Given the description of an element on the screen output the (x, y) to click on. 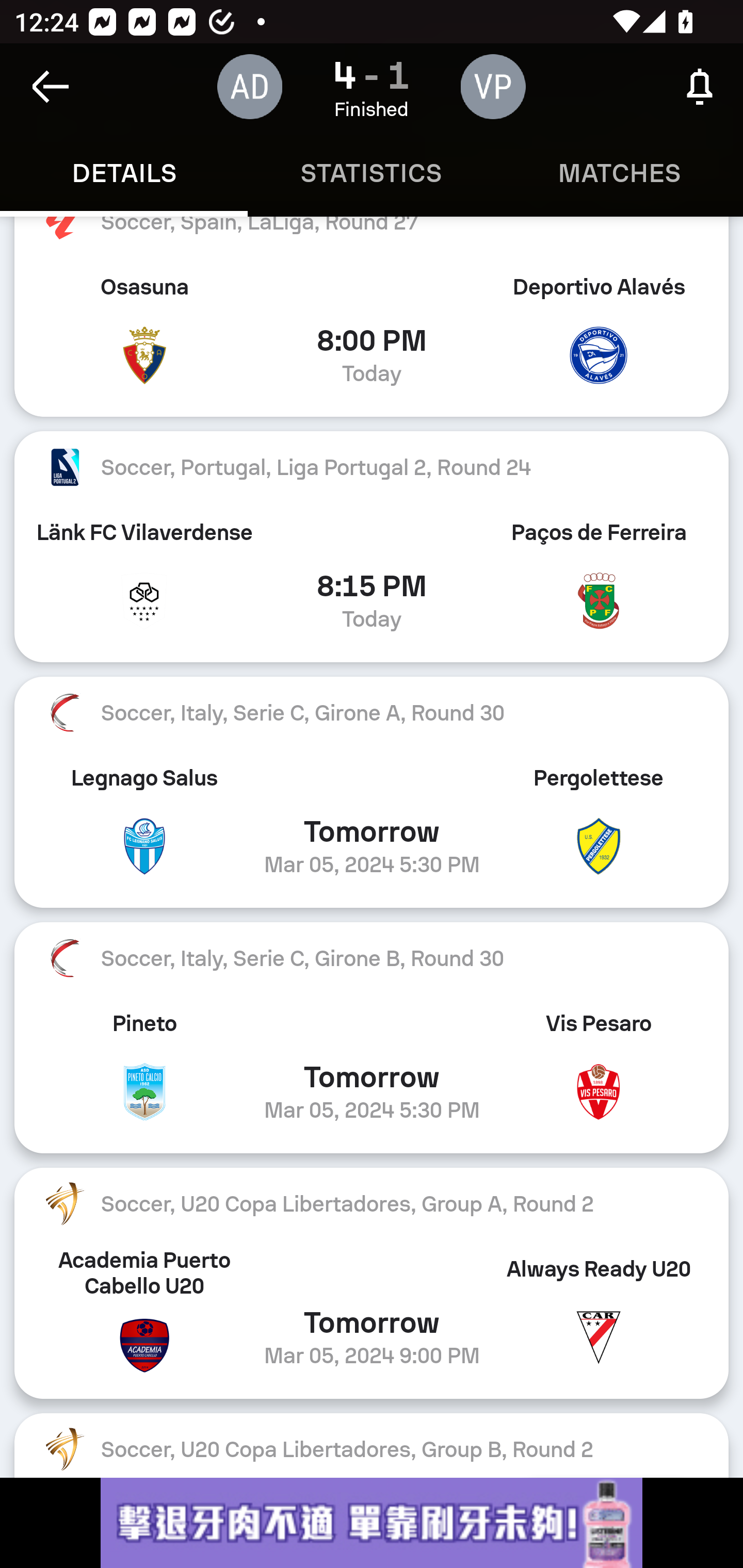
Navigate up (50, 86)
Statistics STATISTICS (371, 173)
Matches MATCHES (619, 173)
Soccer, Portugal, Liga Portugal 2, Round 24 (371, 467)
Soccer, Italy, Serie C, Girone A, Round 30 (371, 713)
Soccer, Italy, Serie C, Girone B, Round 30 (371, 957)
Soccer, U20 Copa Libertadores, Group A, Round 2 (371, 1204)
Soccer, U20 Copa Libertadores, Group B, Round 2 (371, 1444)
Advertisement (371, 1522)
